Given the description of an element on the screen output the (x, y) to click on. 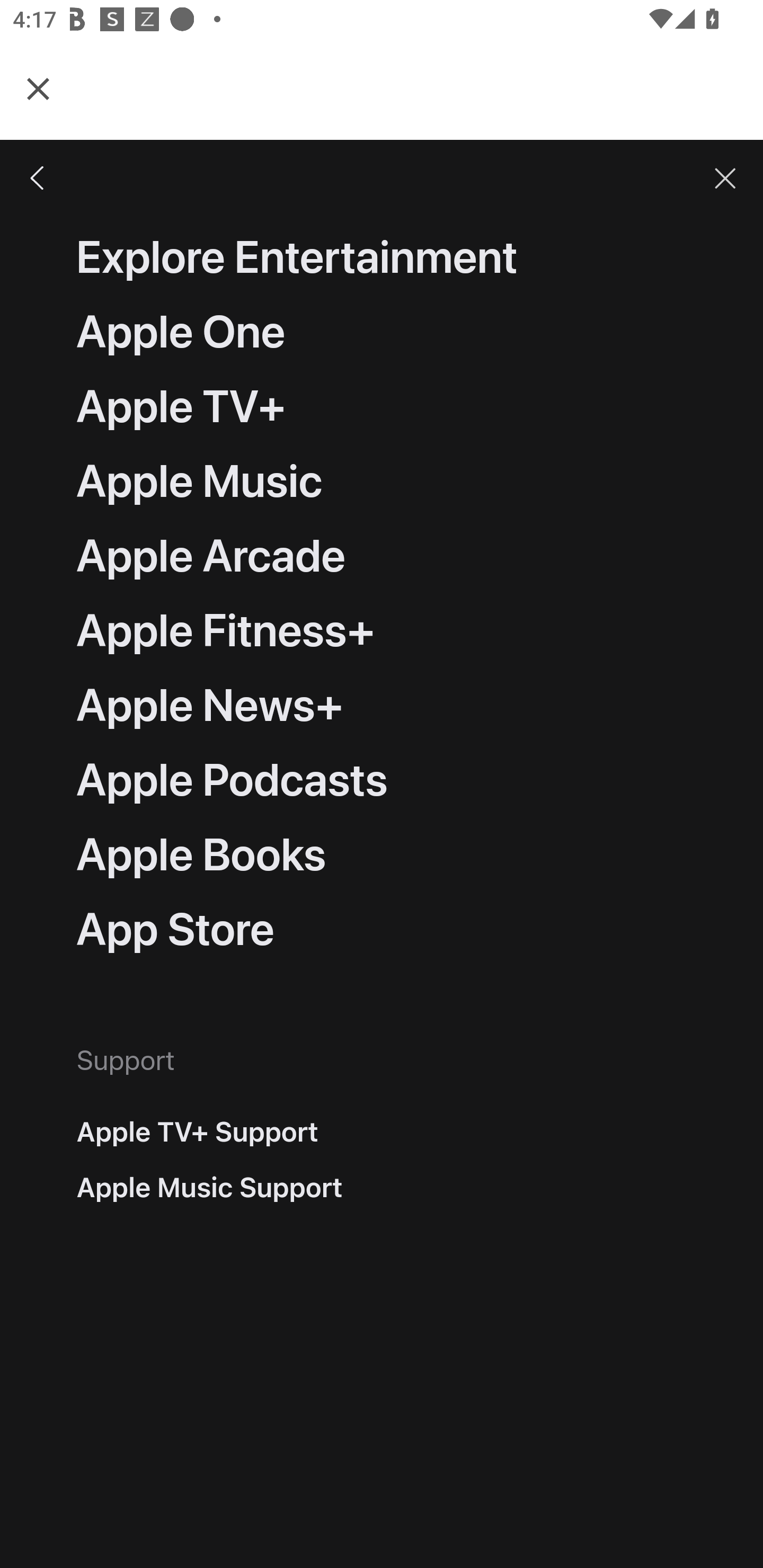
Close (38, 88)
Main menu (38, 177)
Close (724, 177)
Explore Entertainment (296, 257)
Apple One (180, 331)
Apple TV+ (181, 406)
Apple Music (199, 481)
Apple Arcade (210, 555)
Apple Fitness+ (226, 631)
Apple News+ (210, 705)
Apple Podcasts (232, 779)
Apple Books (201, 855)
App Store (175, 929)
Apple TV+ Support (196, 1131)
Apple Music Support (209, 1186)
